Given the description of an element on the screen output the (x, y) to click on. 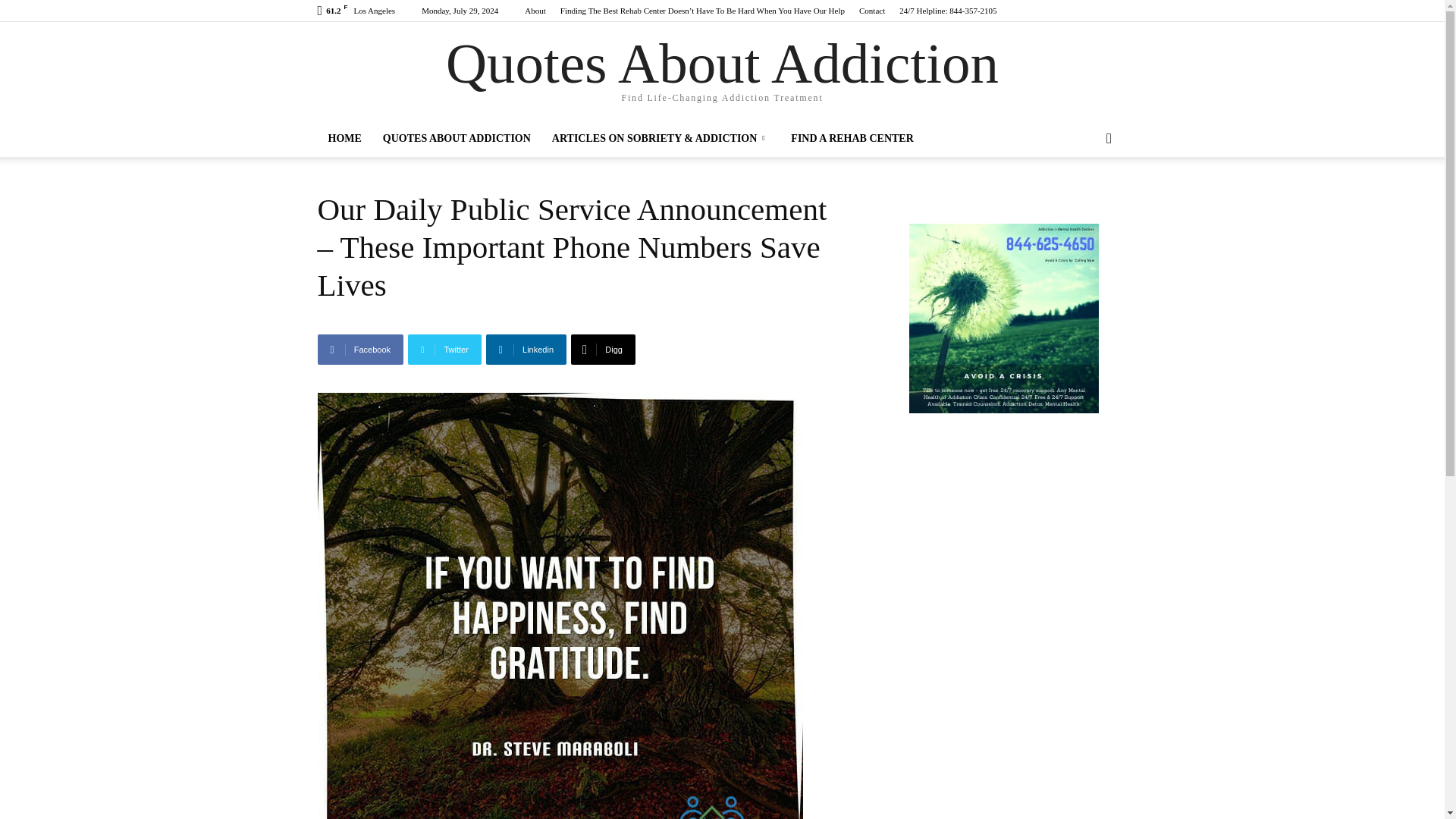
Contact (872, 10)
FIND A REHAB CENTER (851, 138)
HOME (344, 138)
Search (1085, 199)
QUOTES ABOUT ADDICTION (456, 138)
Linkedin (526, 349)
About (535, 10)
Digg (602, 349)
Facebook (360, 349)
Twitter (444, 349)
